Given the description of an element on the screen output the (x, y) to click on. 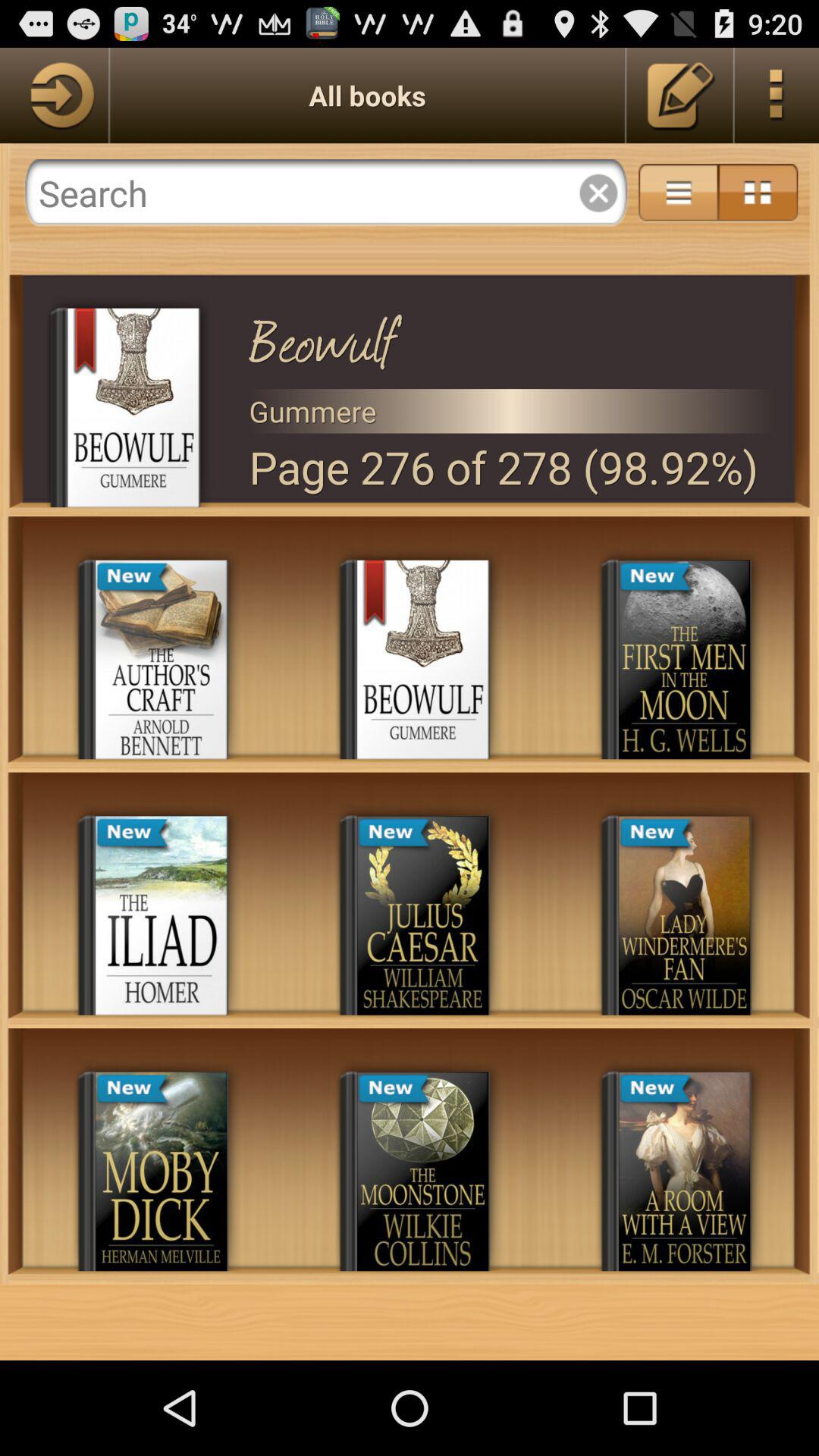
display items as grid (757, 192)
